Given the description of an element on the screen output the (x, y) to click on. 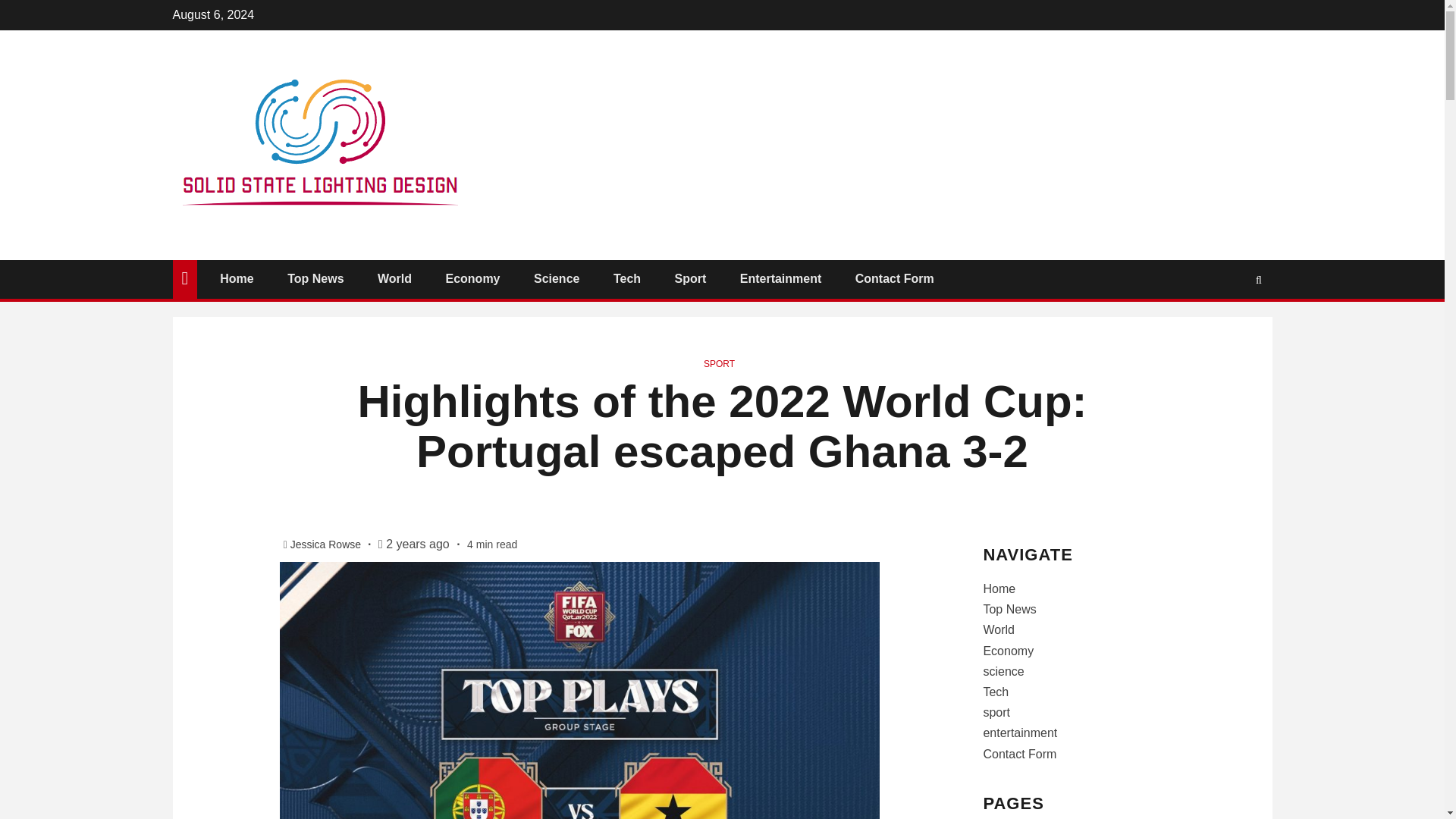
Search (1229, 325)
Contact Form (895, 278)
Jessica Rowse (326, 544)
Sport (690, 278)
Home (236, 278)
Science (556, 278)
Economy (472, 278)
SPORT (719, 363)
Entertainment (780, 278)
Tech (626, 278)
Top News (314, 278)
World (394, 278)
